Given the description of an element on the screen output the (x, y) to click on. 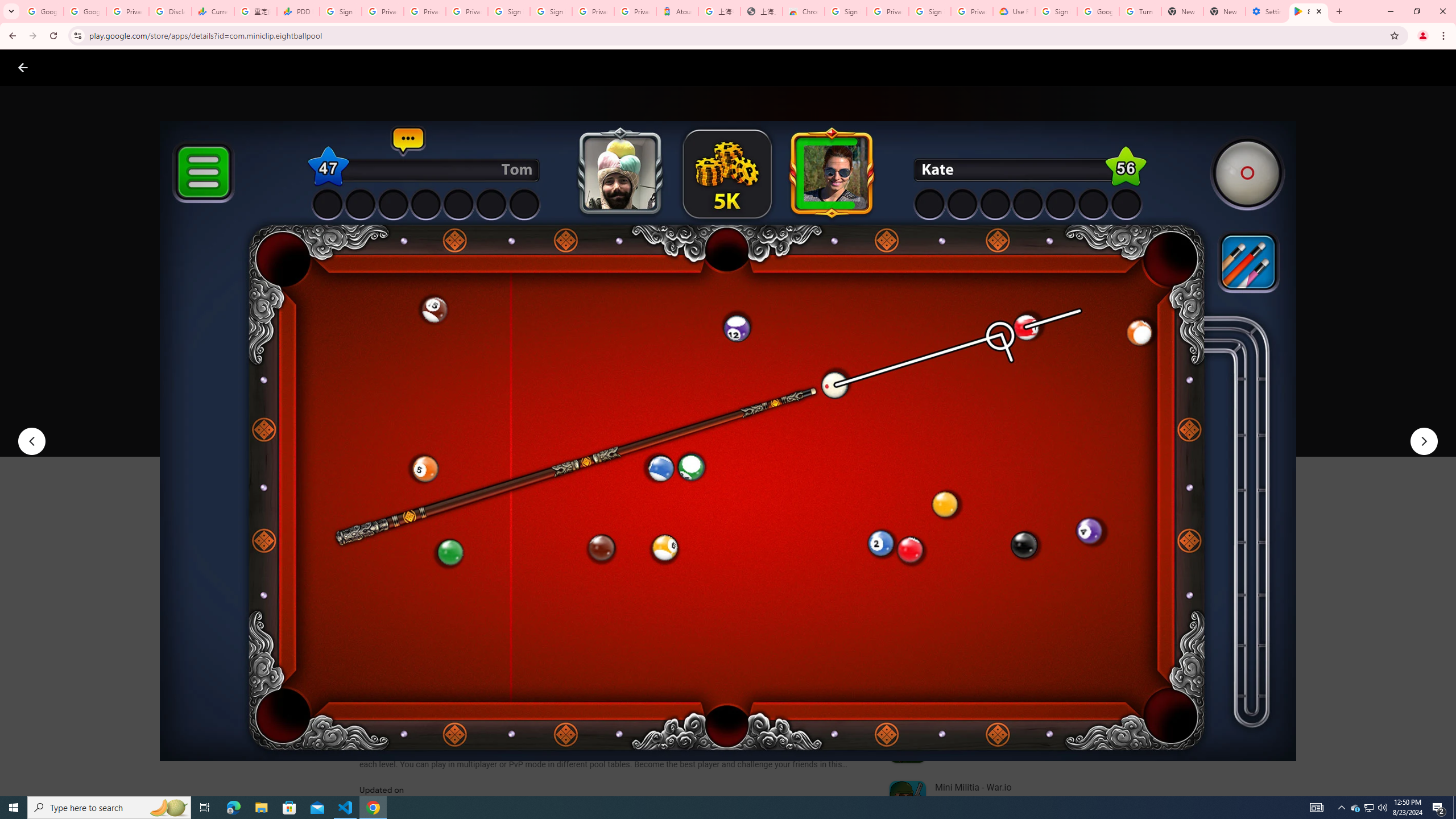
Sign in - Google Accounts (509, 11)
Open account menu (1436, 67)
8 Ball Pool - Apps on Google Play (1308, 11)
Privacy Checkup (424, 11)
Settings - System (1266, 11)
Google Workspace Admin Community (42, 11)
Expand (978, 497)
Play trailer (1062, 423)
